Given the description of an element on the screen output the (x, y) to click on. 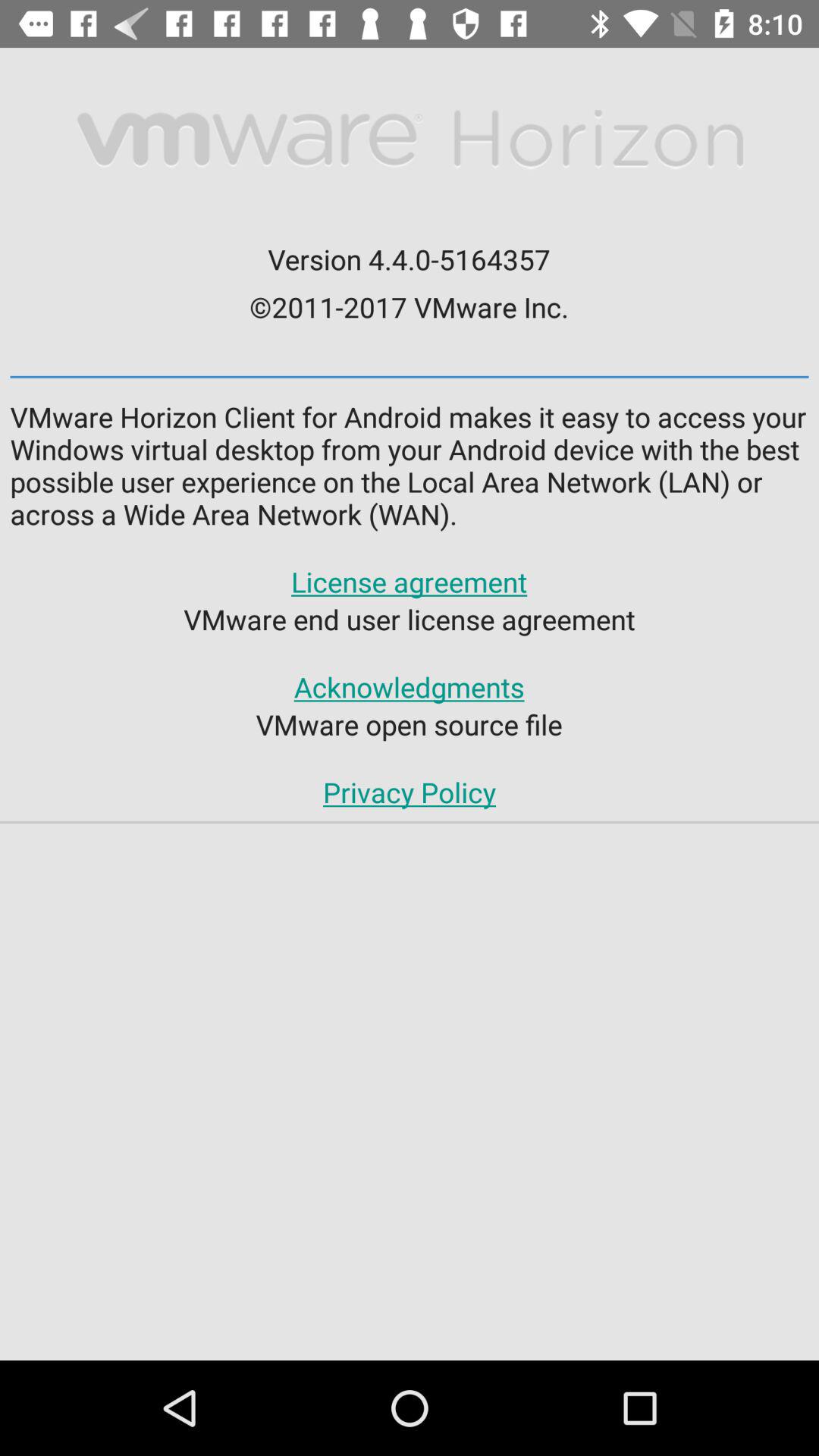
swipe until privacy policy (409, 792)
